Given the description of an element on the screen output the (x, y) to click on. 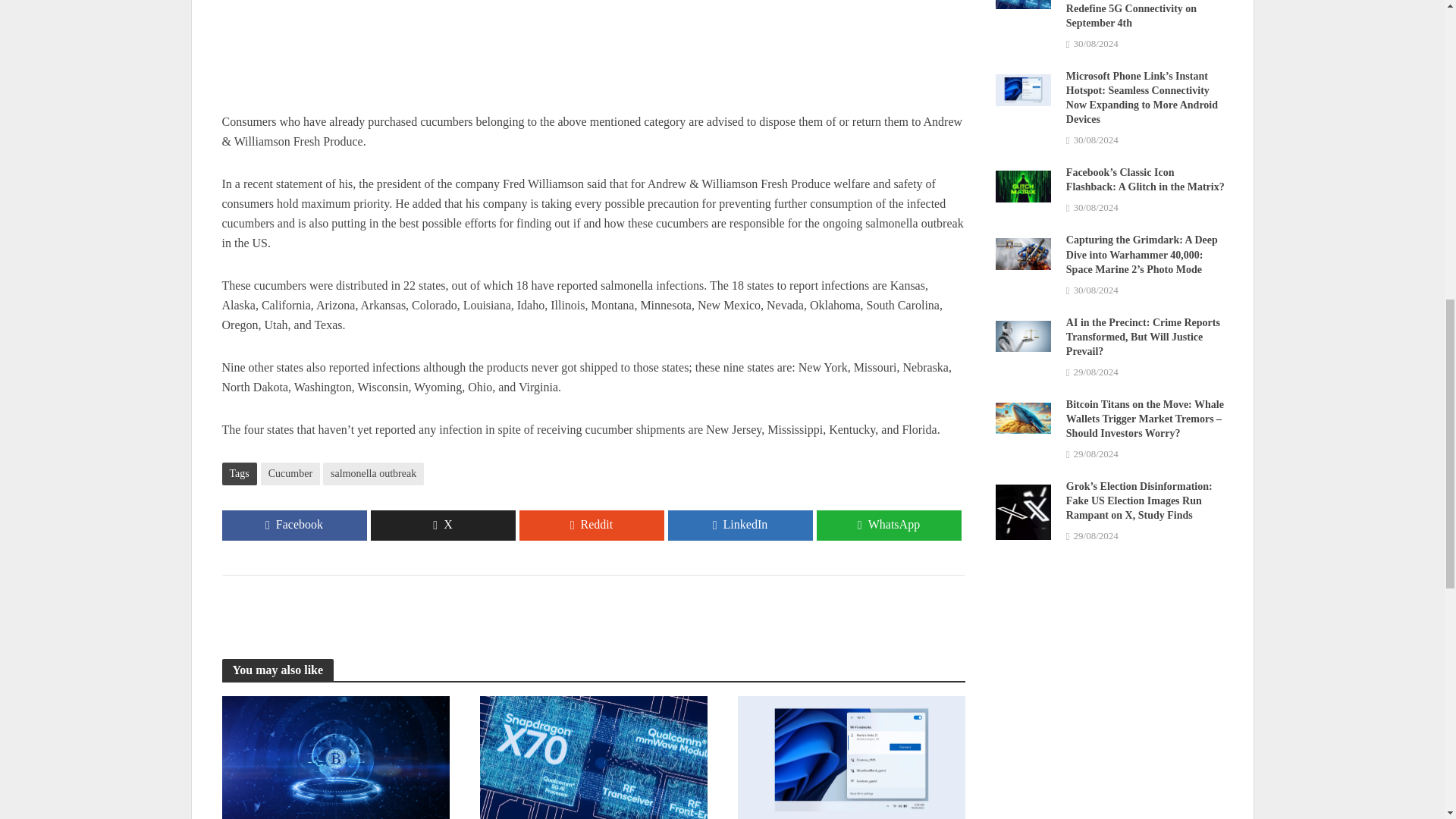
Cucumber (290, 473)
Advertisement (592, 56)
